Given the description of an element on the screen output the (x, y) to click on. 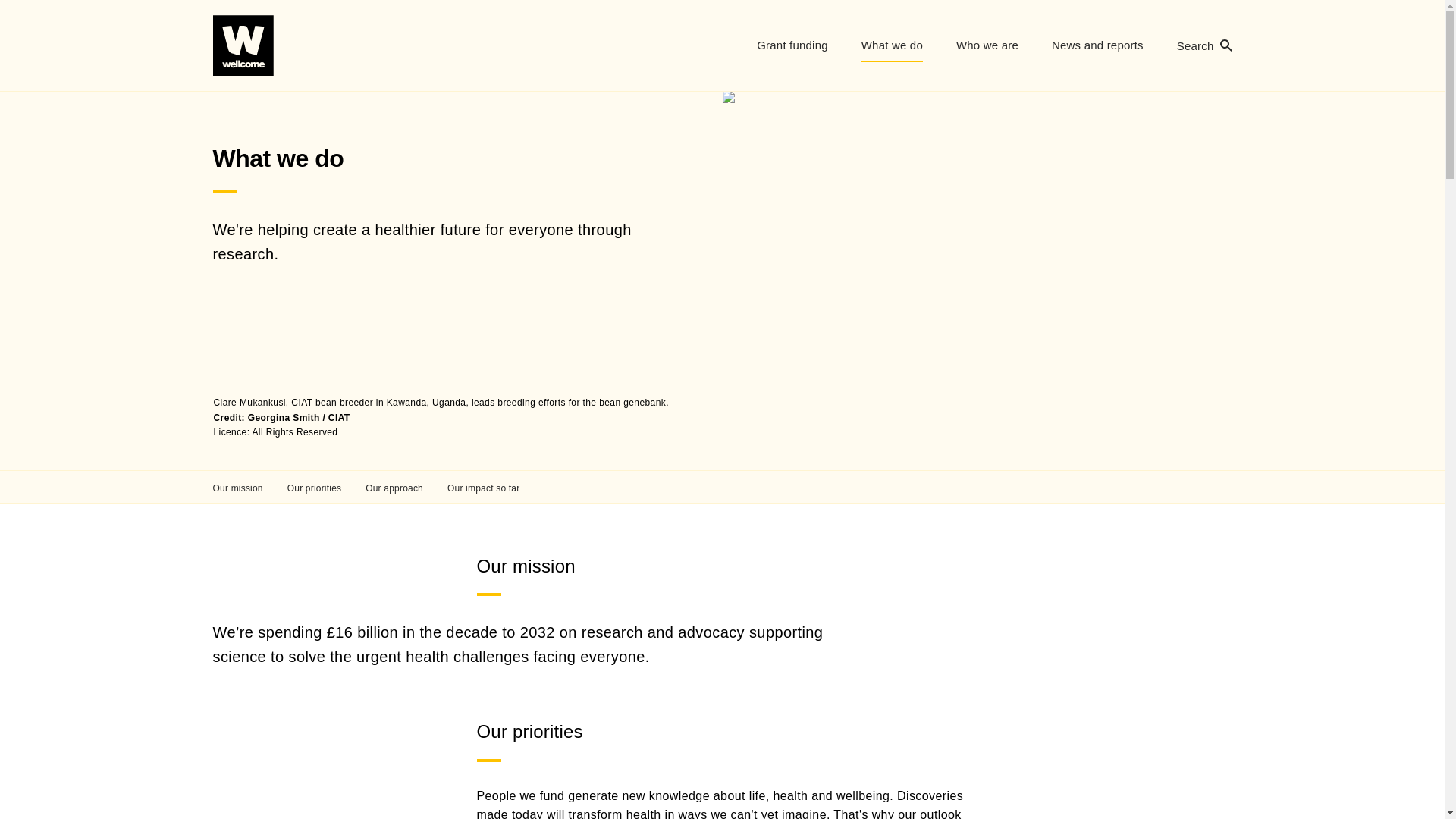
Grant funding (791, 45)
Search (1204, 45)
Who we are (987, 45)
News and reports (1097, 45)
What we do (891, 45)
